Given the description of an element on the screen output the (x, y) to click on. 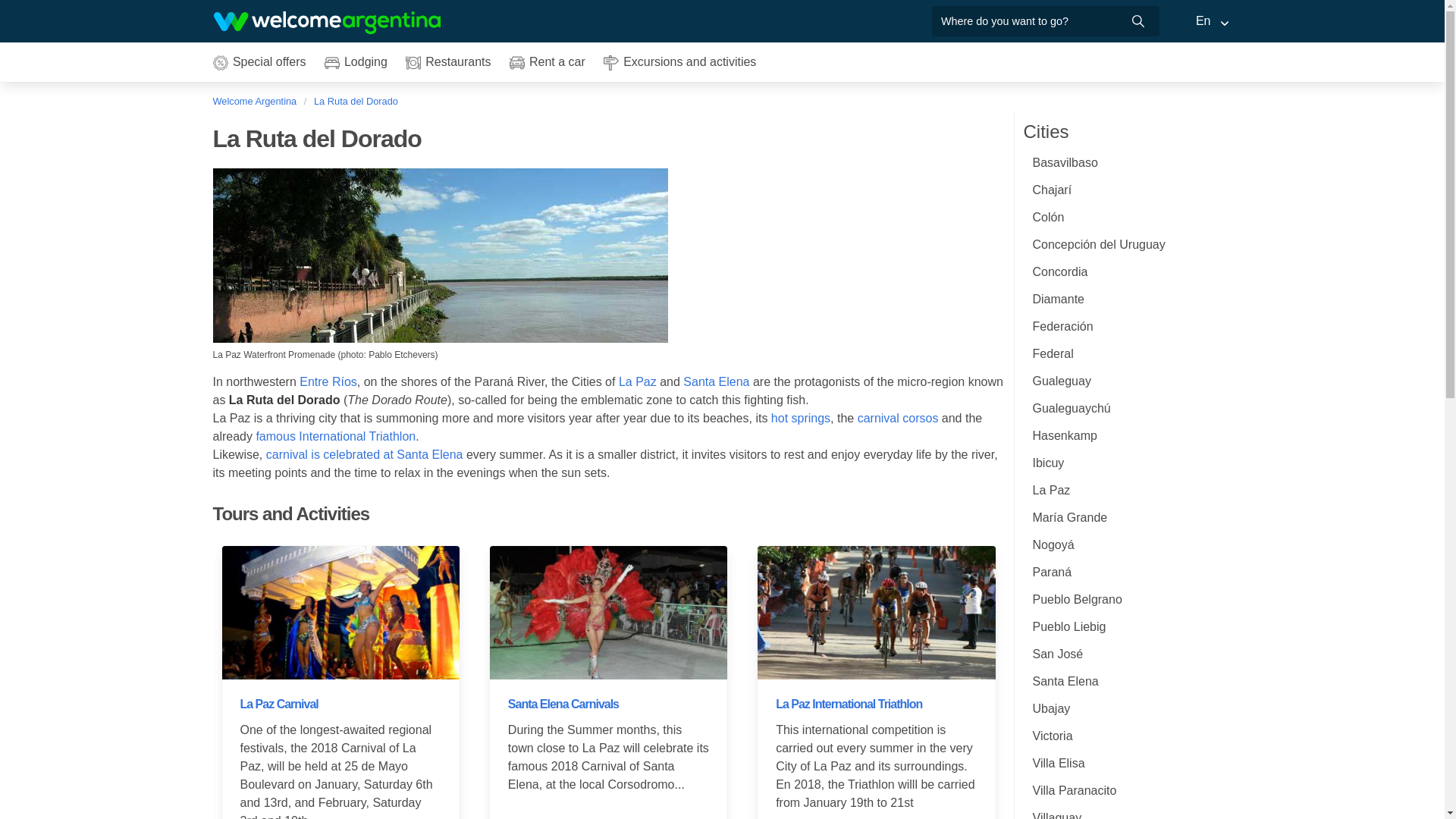
Special offers (258, 61)
carnival corsos (898, 418)
Restaurants (448, 61)
famous International Triathlon (335, 436)
La Ruta del Dorado (354, 101)
La Paz (637, 381)
La Ruta del Dorado (354, 101)
Santa Elena Carnivals (563, 703)
Basavilbaso (1127, 162)
Excursions and activities (679, 61)
Santa Elena (715, 381)
hot springs (800, 418)
Welcome Argentina (257, 101)
La Paz Carnival (278, 703)
Rent a car (547, 61)
